Given the description of an element on the screen output the (x, y) to click on. 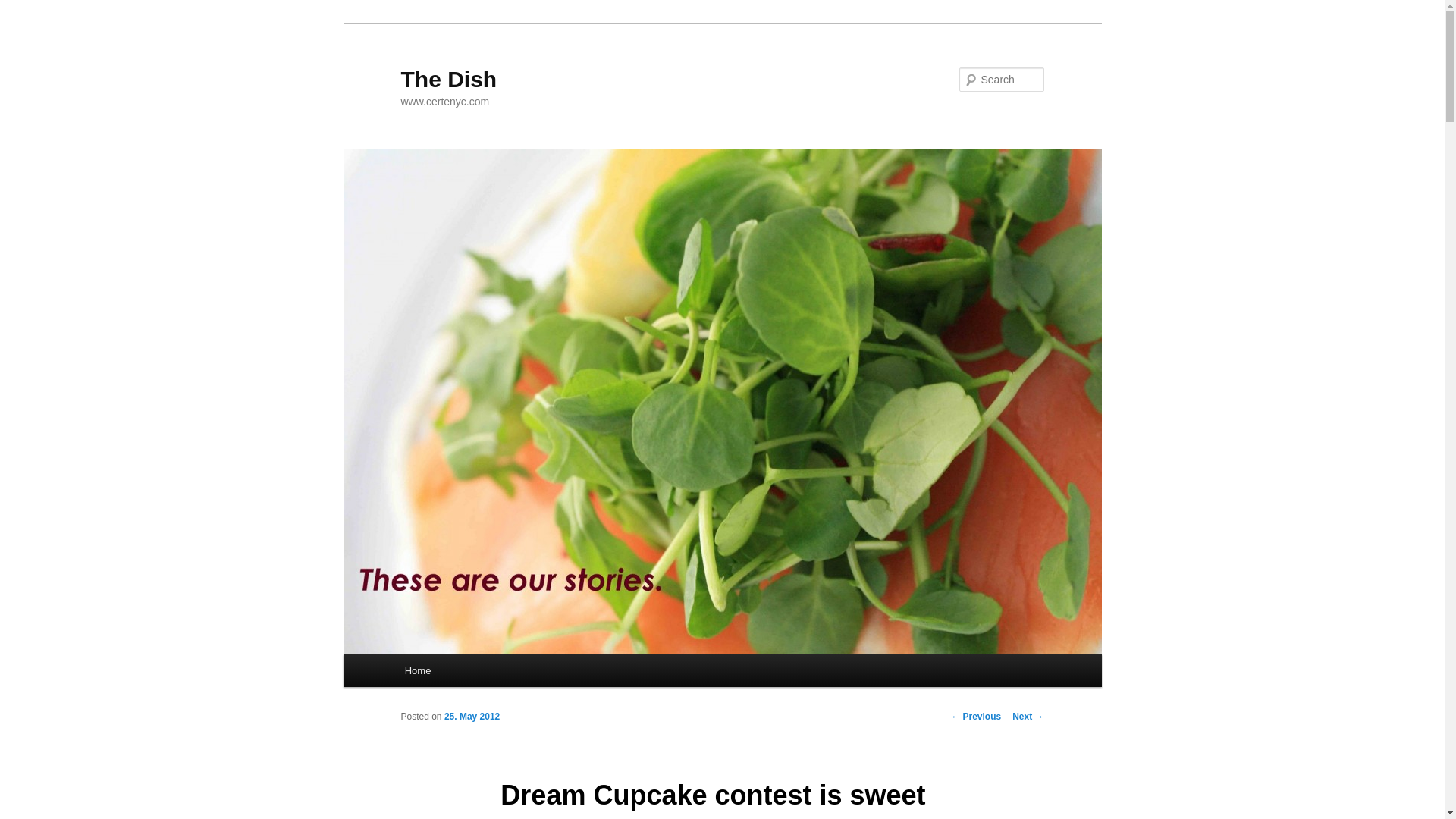
Home (417, 670)
18:23 (471, 716)
The Dish (448, 78)
25. May 2012 (471, 716)
Search (24, 8)
